Given the description of an element on the screen output the (x, y) to click on. 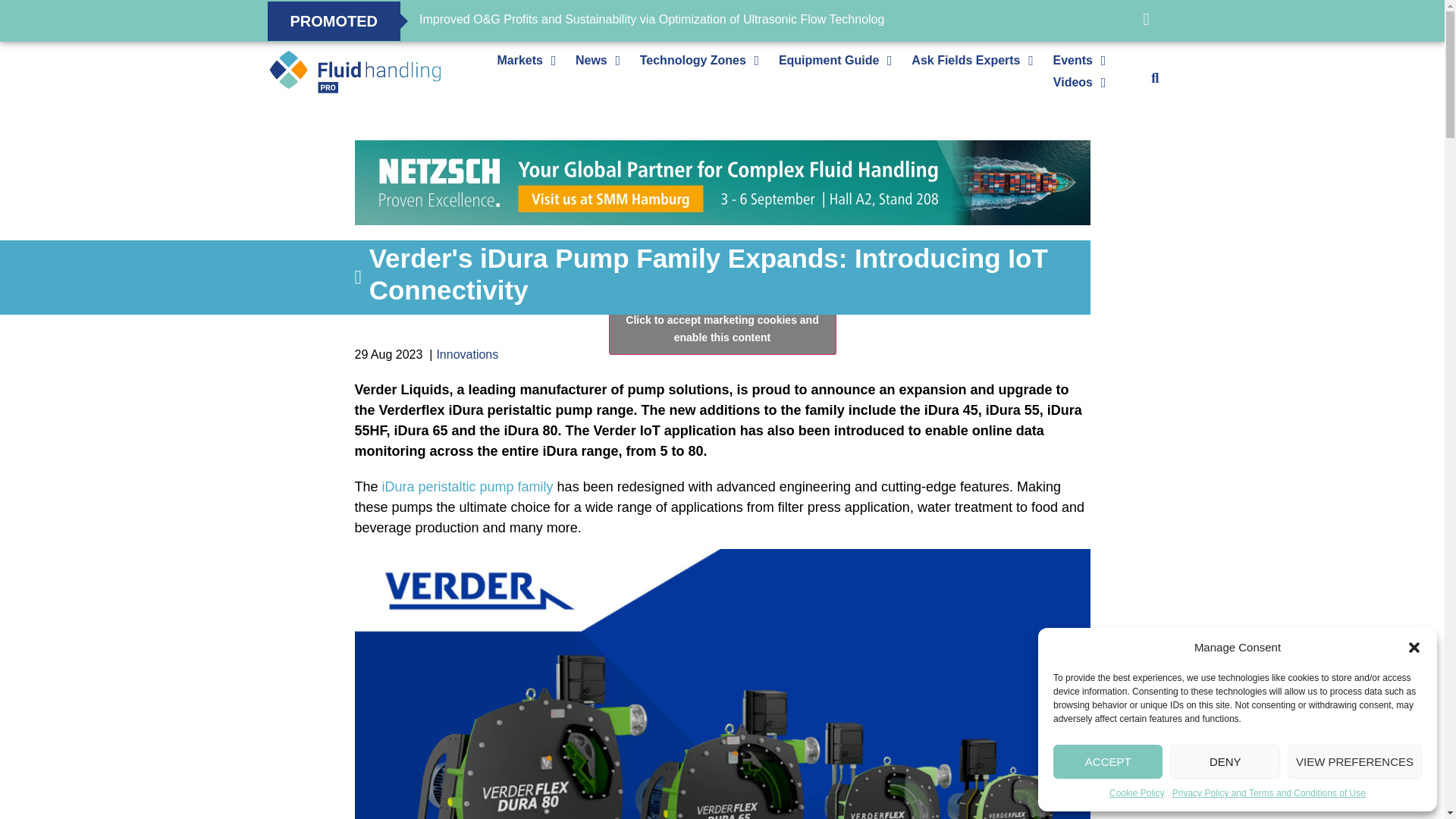
ACCEPT (1106, 761)
DENY (1224, 761)
Cookie Policy (1136, 793)
Privacy Policy and Terms and Conditions of Use (1268, 793)
VIEW PREFERENCES (1354, 761)
